Given the description of an element on the screen output the (x, y) to click on. 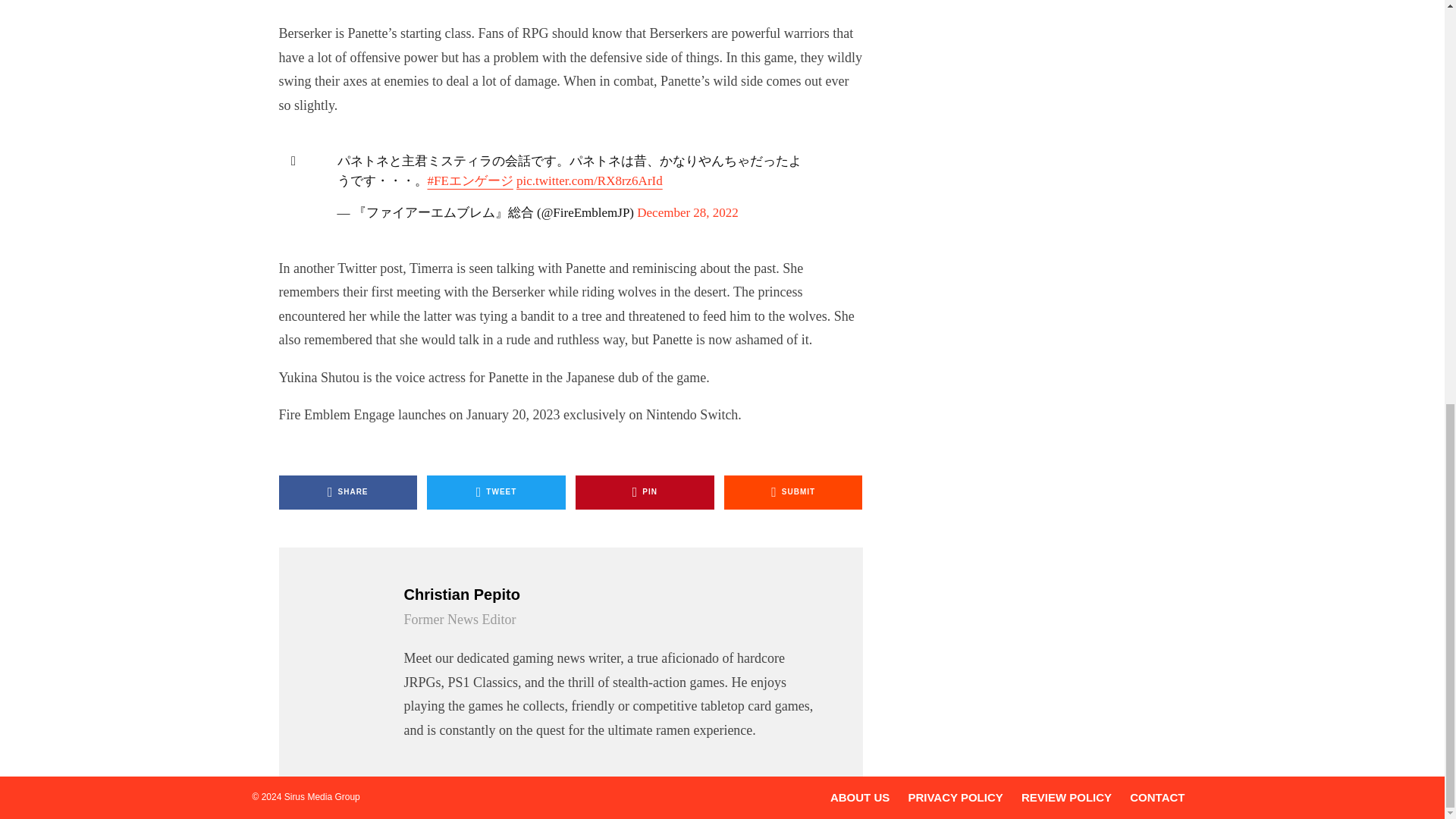
PRIVACY POLICY (955, 797)
PIN (644, 492)
TWEET (496, 492)
SHARE (348, 492)
REVIEW POLICY (1067, 797)
Christian Pepito (613, 594)
SUBMIT (793, 492)
CONTACT (1157, 797)
ABOUT US (859, 797)
December 28, 2022 (687, 212)
